Given the description of an element on the screen output the (x, y) to click on. 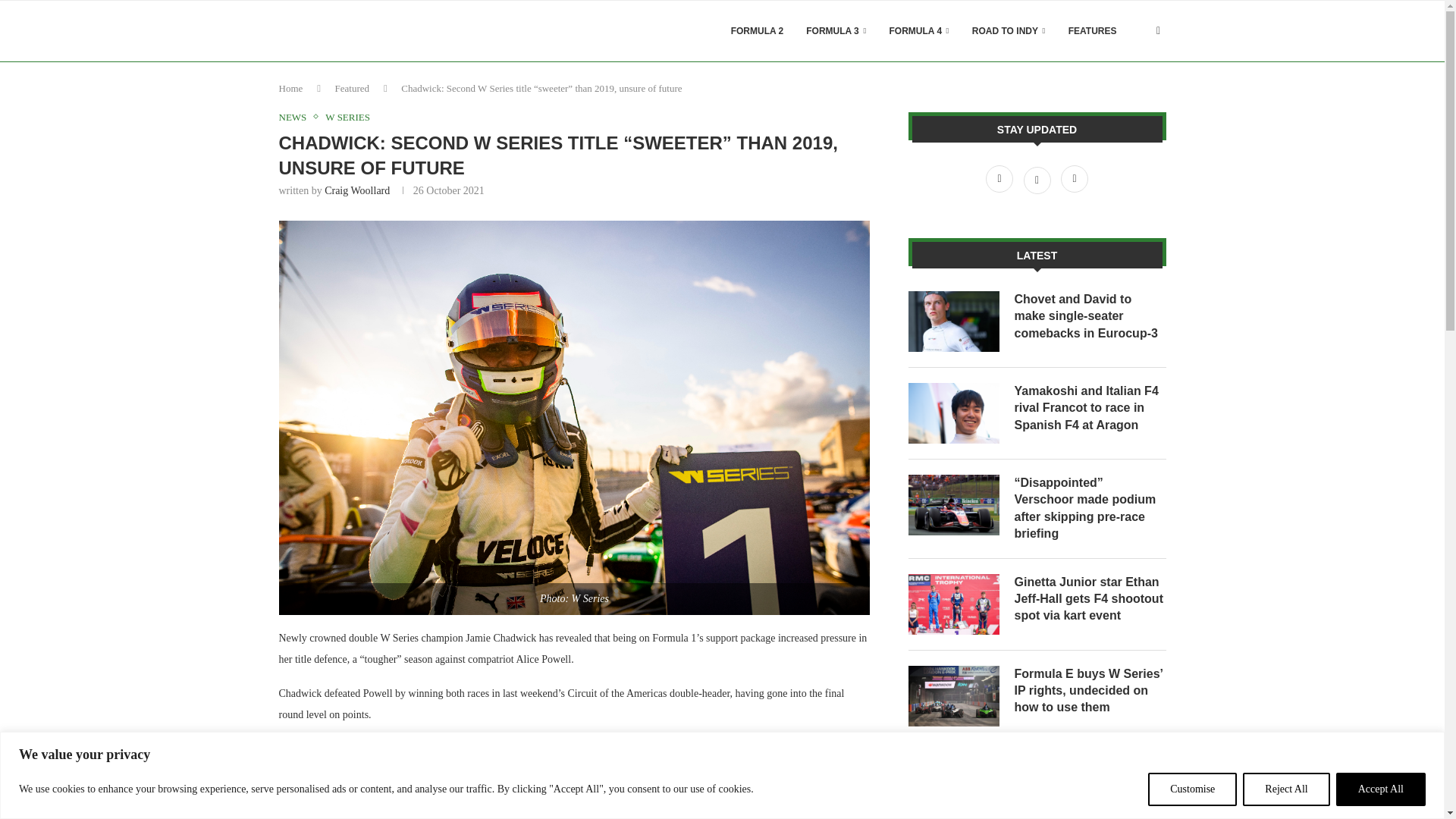
W SERIES (346, 117)
ROAD TO INDY (1008, 30)
Craig Woollard (357, 190)
Reject All (1286, 788)
Accept All (1380, 788)
Featured (351, 88)
FORMULA 3 (836, 30)
FORMULA 4 (919, 30)
Customise (1192, 788)
NEWS (296, 117)
